Given the description of an element on the screen output the (x, y) to click on. 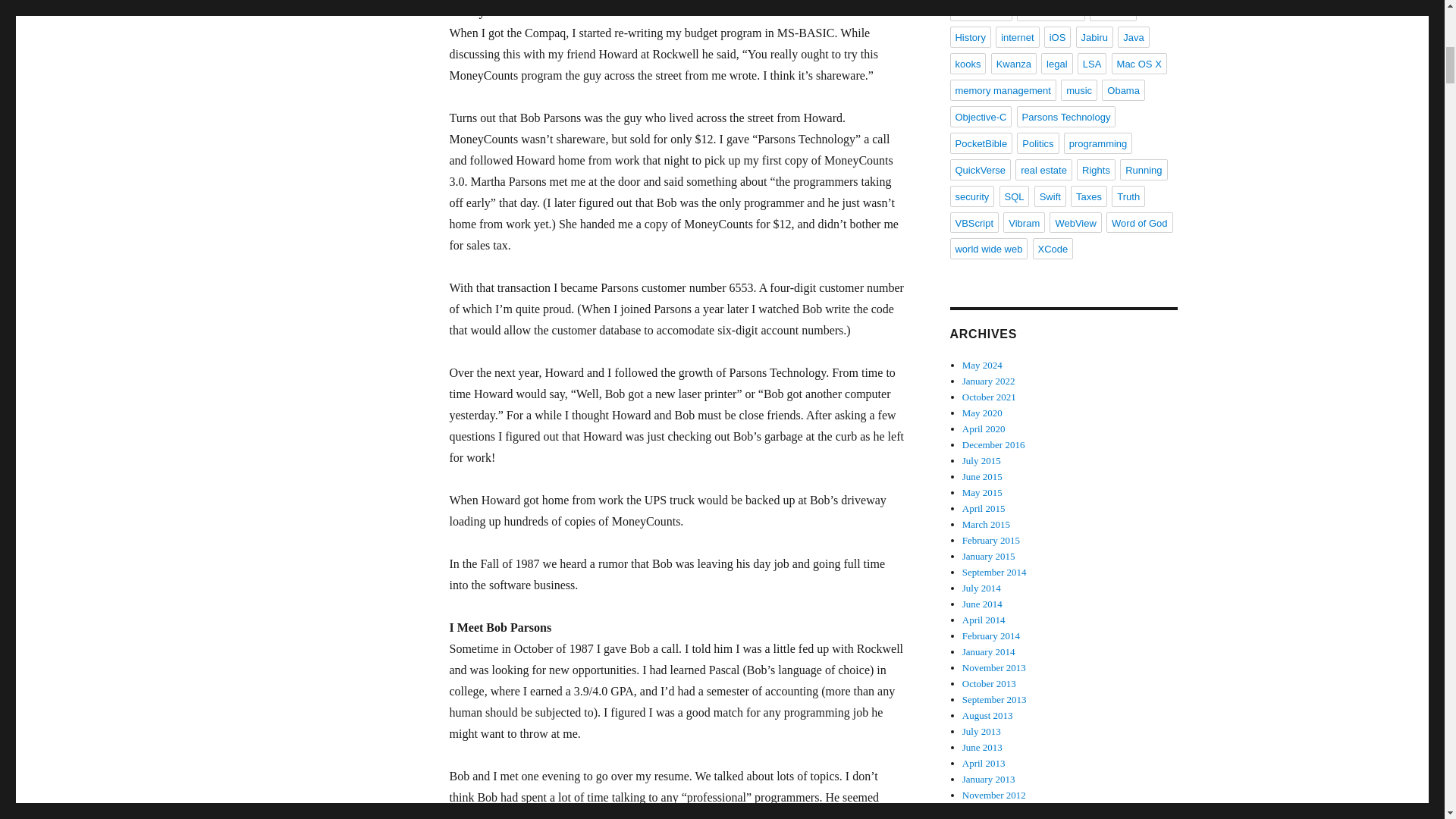
death threats (1050, 10)
Constitution (980, 10)
